Given the description of an element on the screen output the (x, y) to click on. 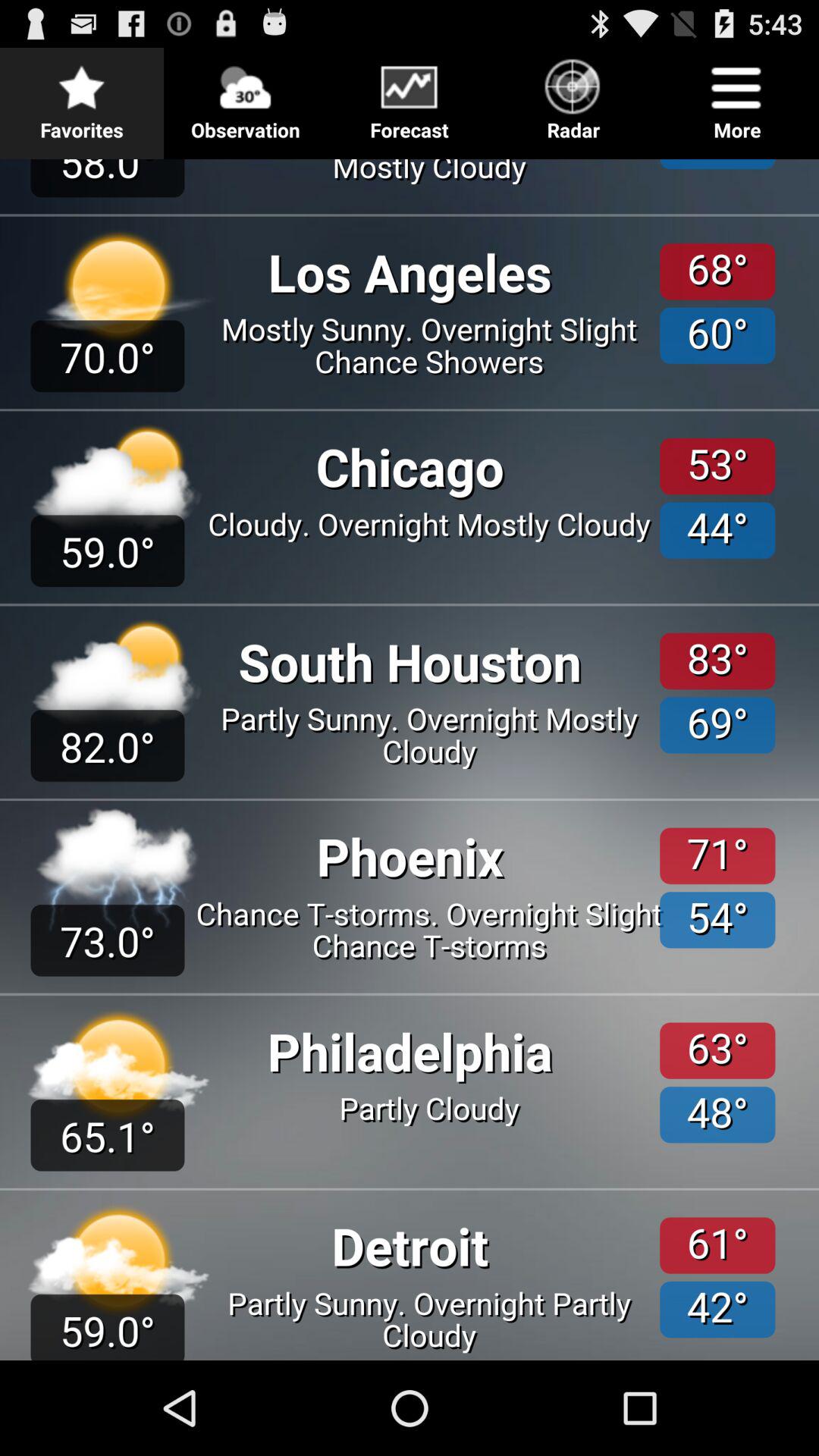
click the item to the left of the observation button (81, 95)
